Given the description of an element on the screen output the (x, y) to click on. 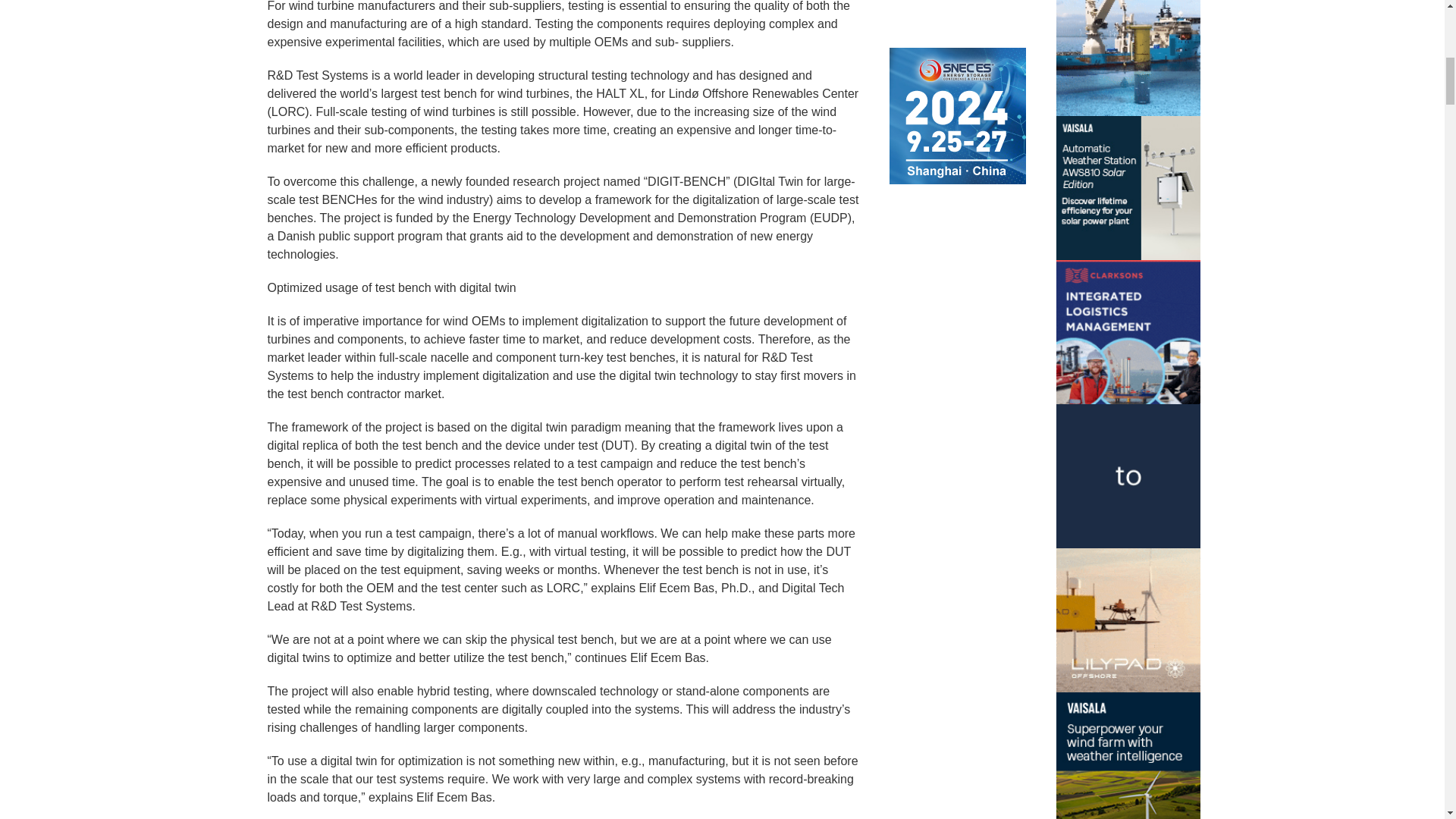
Page 2 (562, 785)
